Given the description of an element on the screen output the (x, y) to click on. 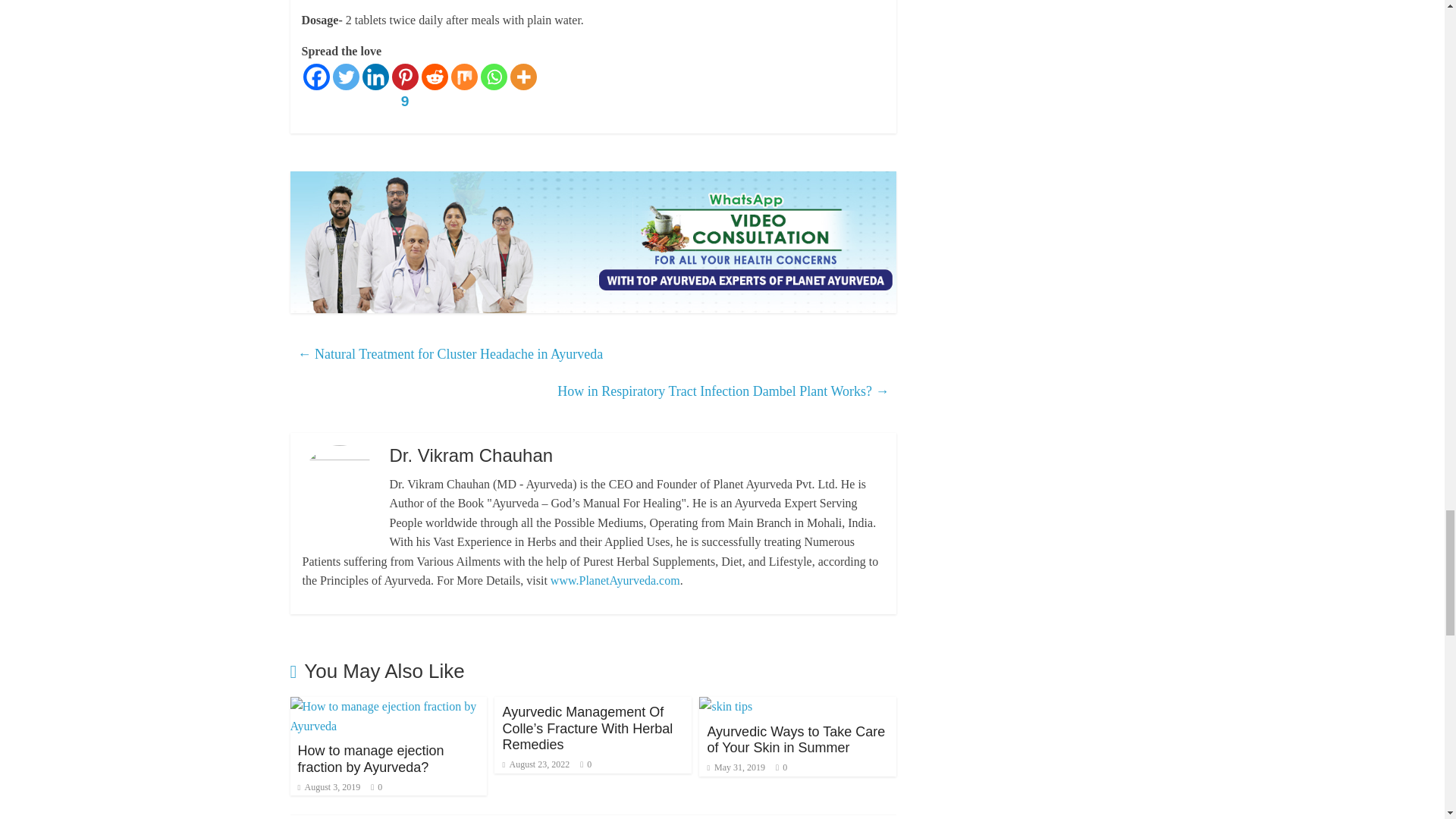
Twitter (344, 76)
More (522, 76)
Linkedin (375, 76)
Facebook (316, 76)
Reddit (435, 76)
Whatsapp (493, 76)
Mix (463, 76)
